Given the description of an element on the screen output the (x, y) to click on. 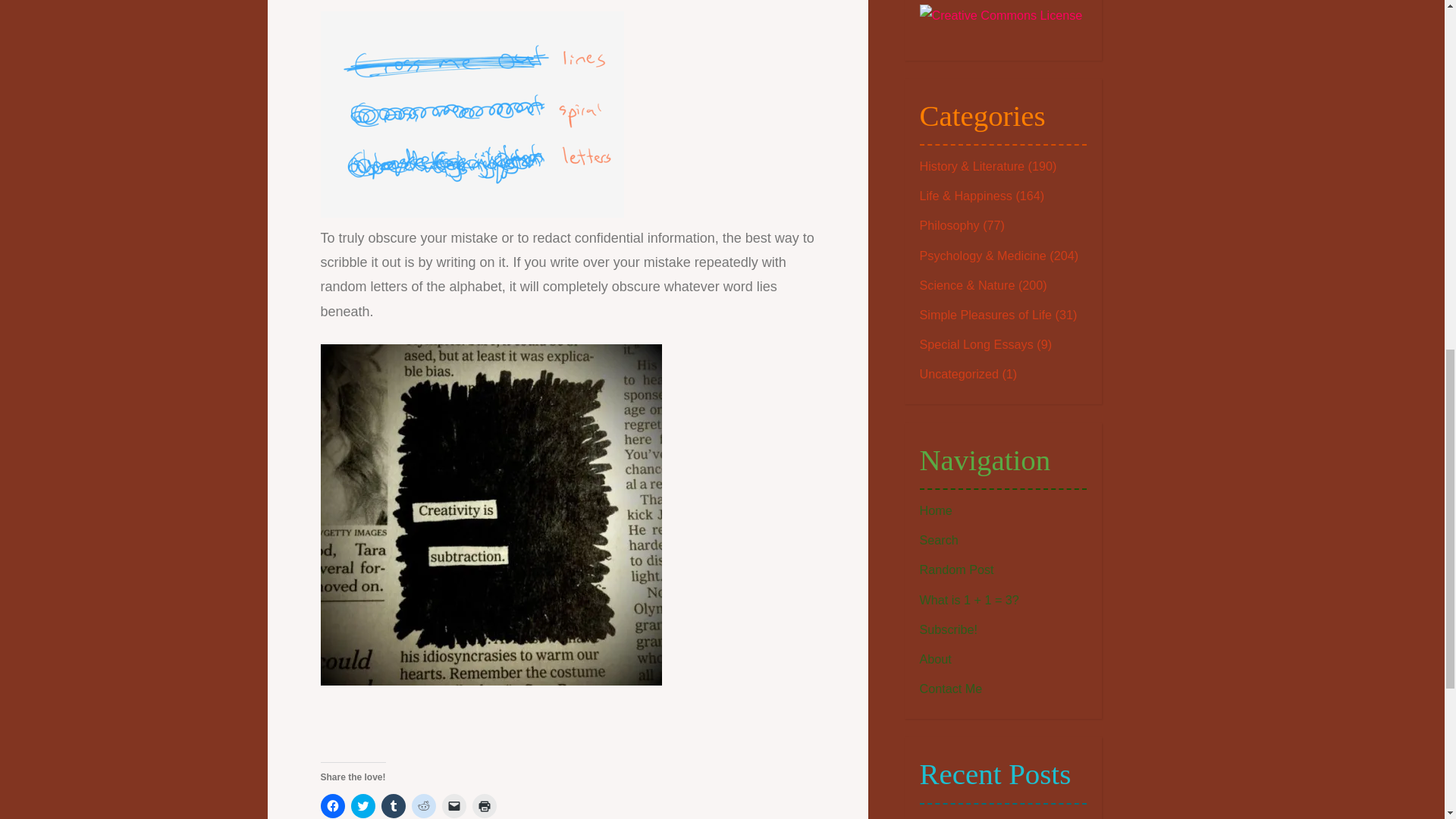
Special Long Essays (975, 344)
Subscribe! (947, 629)
Click to share on Facebook (331, 805)
About (934, 658)
Click to share on Twitter (362, 805)
Contact Me (949, 688)
Home (935, 509)
Click to email a link to a friend (453, 805)
Click to print (483, 805)
Click to share on Reddit (422, 805)
